Given the description of an element on the screen output the (x, y) to click on. 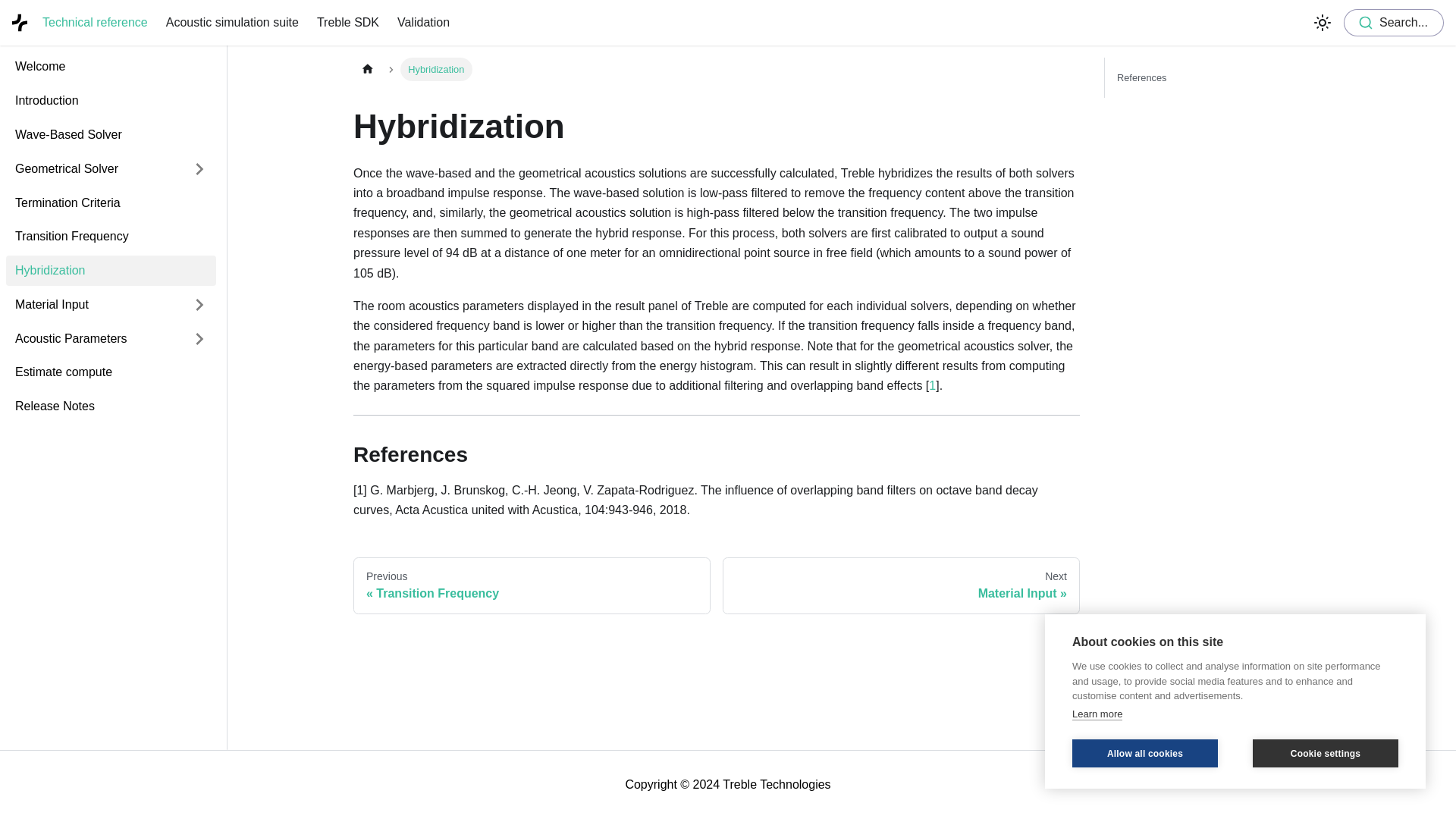
Hybridization (110, 270)
Termination Criteria (110, 202)
Allow all cookies (1144, 753)
Learn more (1096, 714)
Transition Frequency (110, 236)
Treble SDK (347, 22)
Validation (423, 22)
Material Input (94, 304)
Welcome (110, 66)
Estimate compute (110, 372)
